Given the description of an element on the screen output the (x, y) to click on. 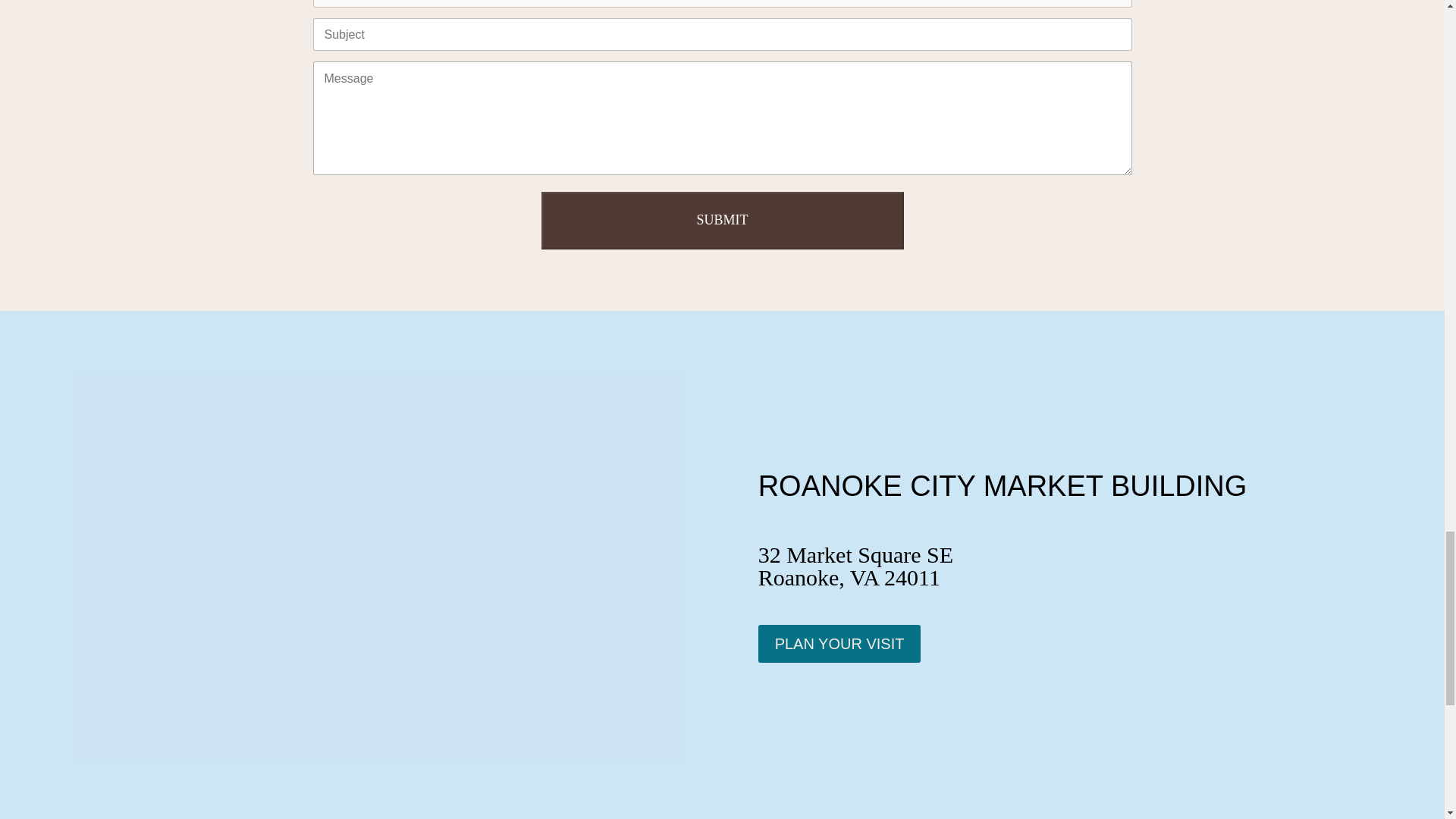
PLAN YOUR VISIT (839, 643)
SUBMIT (722, 220)
SUBMIT (722, 220)
